Given the description of an element on the screen output the (x, y) to click on. 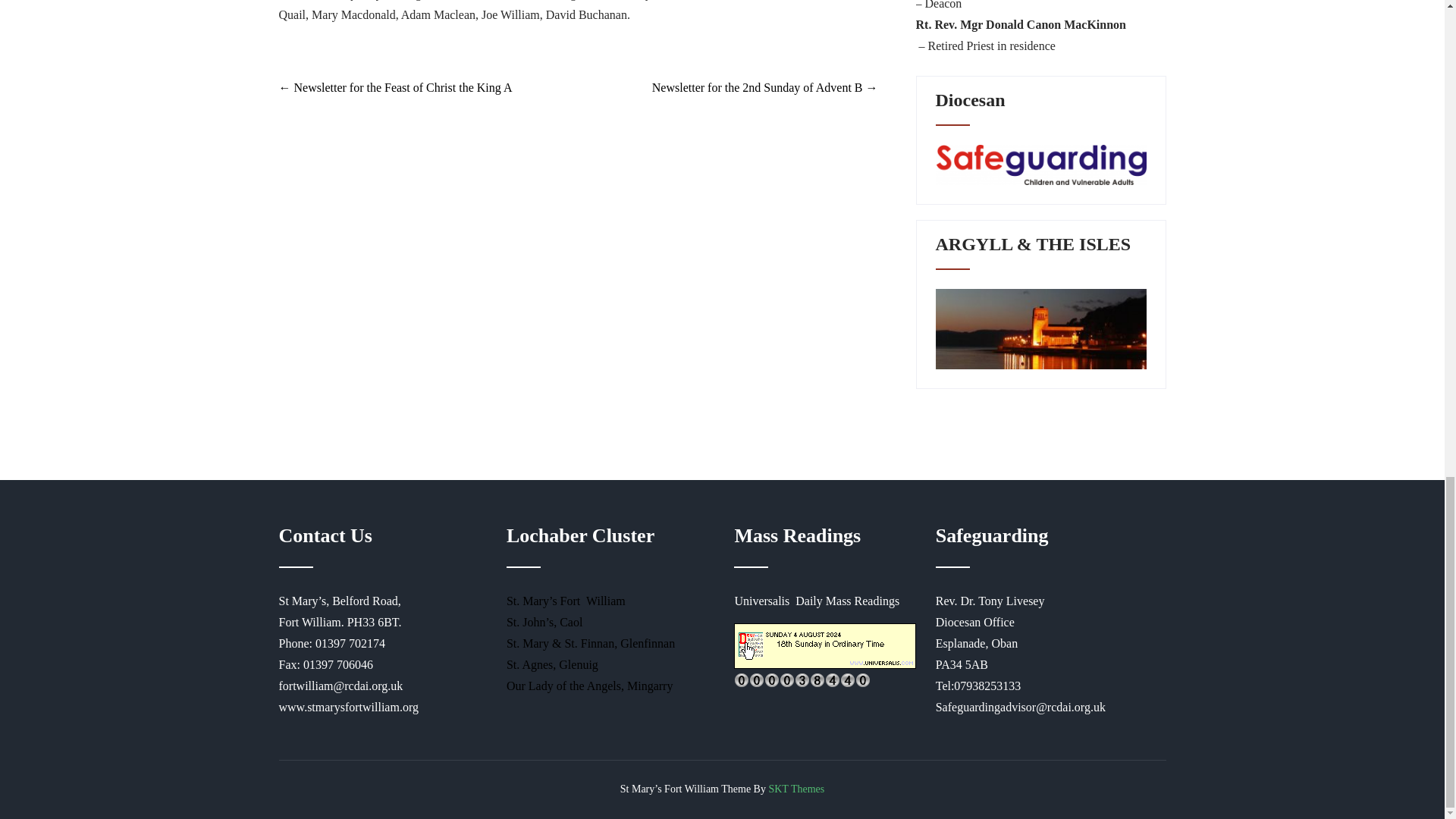
SKT Themes (796, 788)
Our Lady of the Angels, Mingarry (589, 685)
St. Agnes, Glenuig (552, 664)
